Given the description of an element on the screen output the (x, y) to click on. 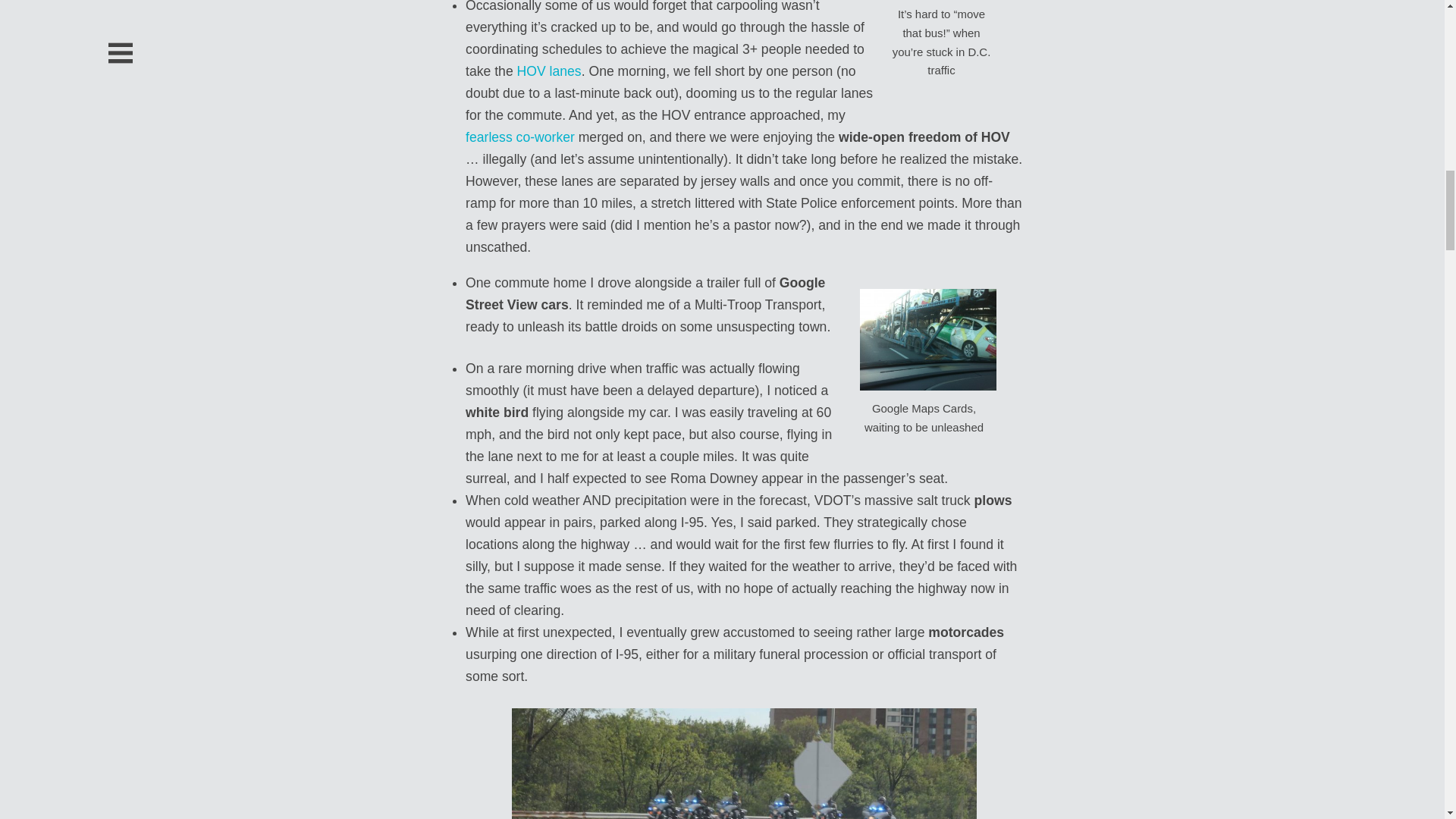
Motorcade (744, 763)
